Given the description of an element on the screen output the (x, y) to click on. 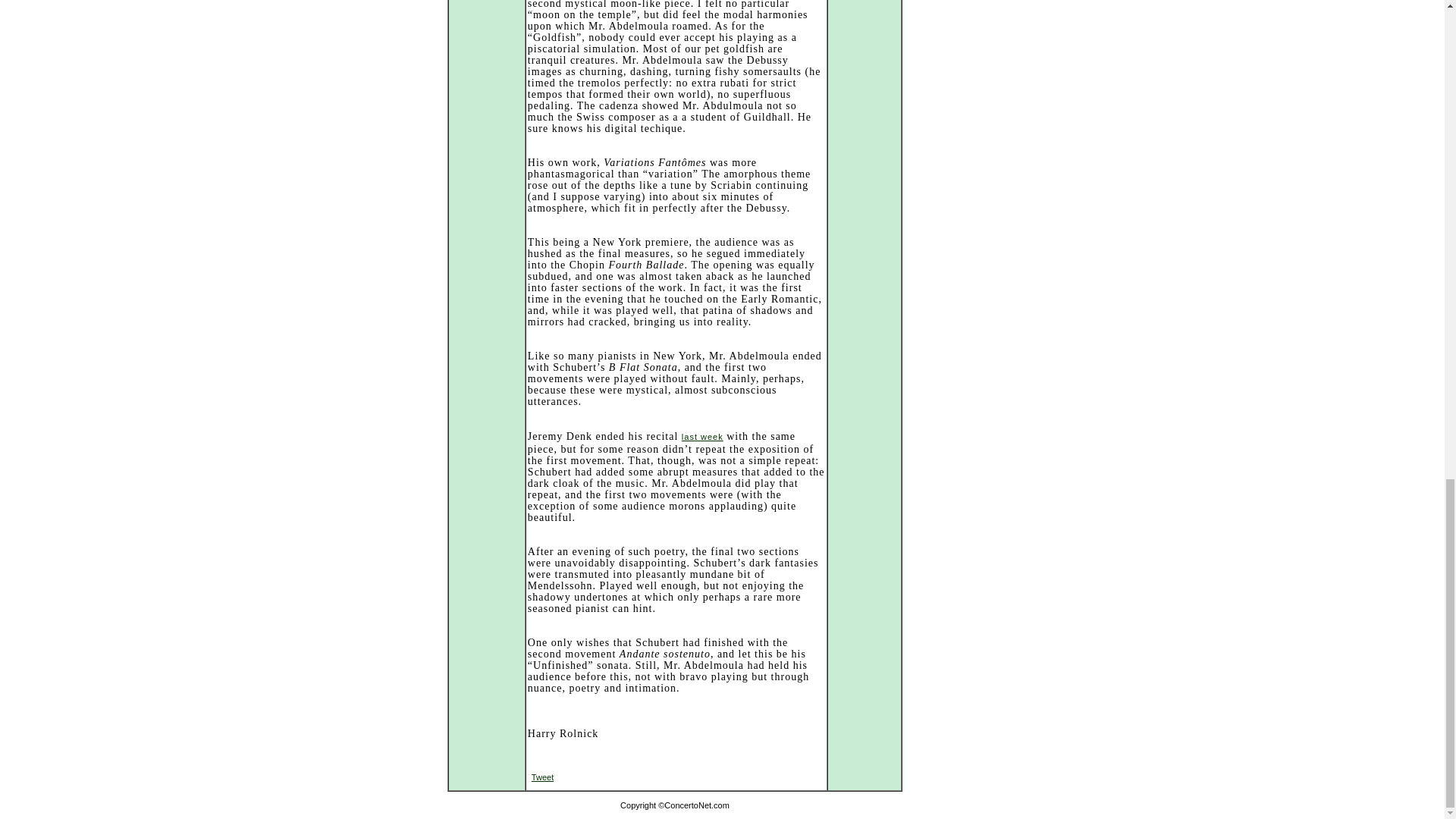
Tweet (542, 777)
last week (702, 436)
